Given the description of an element on the screen output the (x, y) to click on. 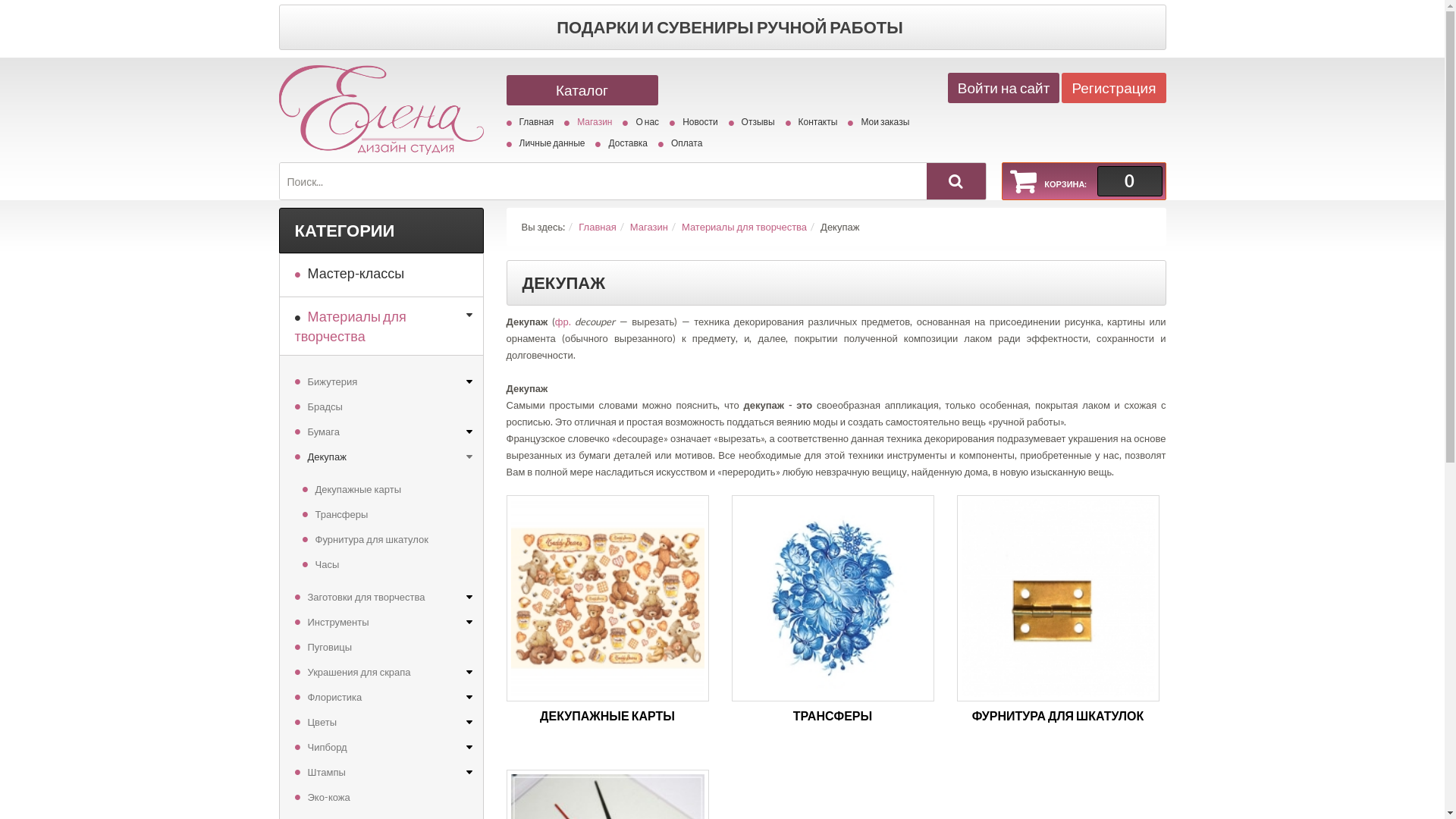
0 Element type: text (1128, 181)
